Given the description of an element on the screen output the (x, y) to click on. 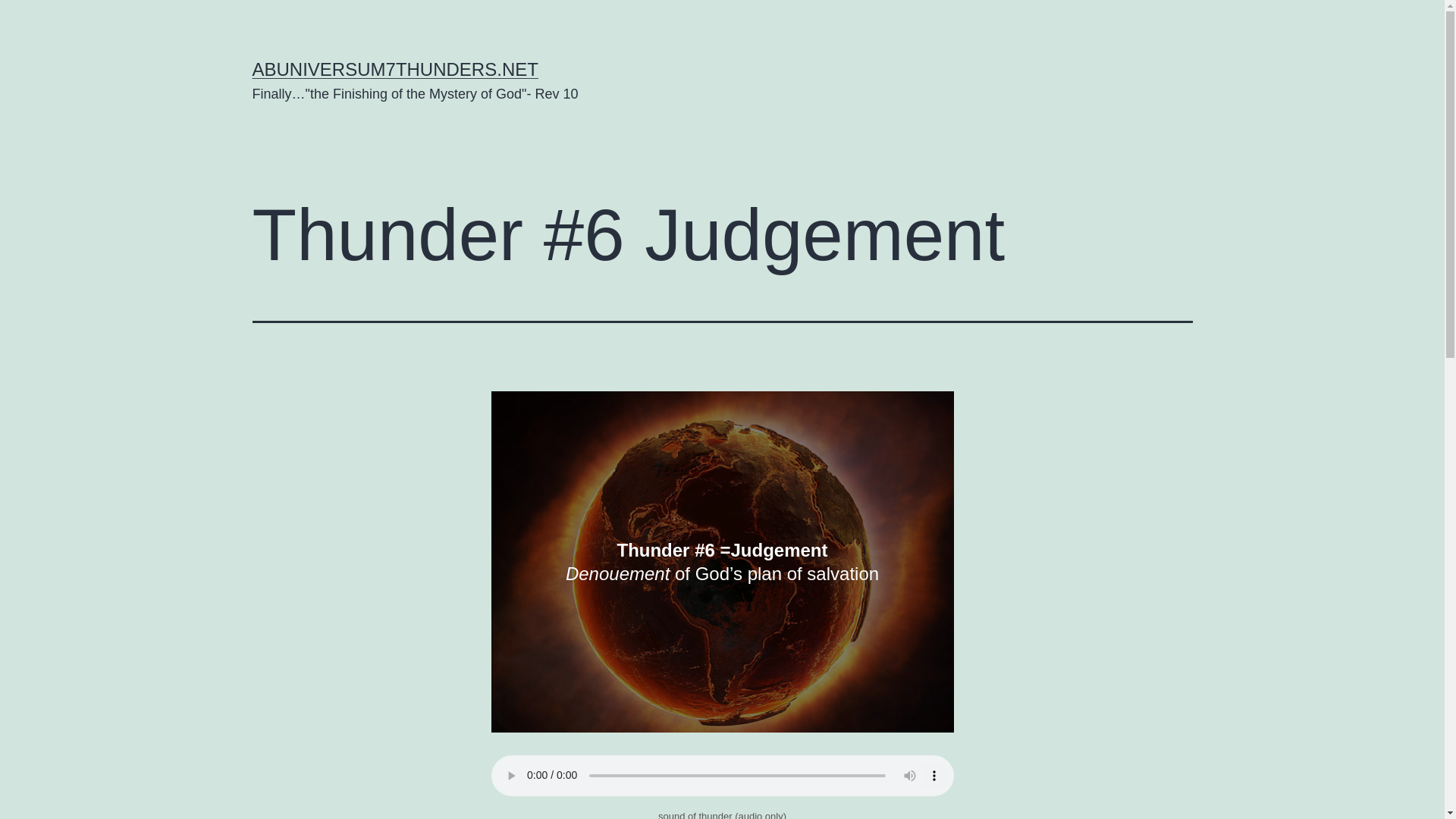
ABUNIVERSUM7THUNDERS.NET (394, 68)
